Given the description of an element on the screen output the (x, y) to click on. 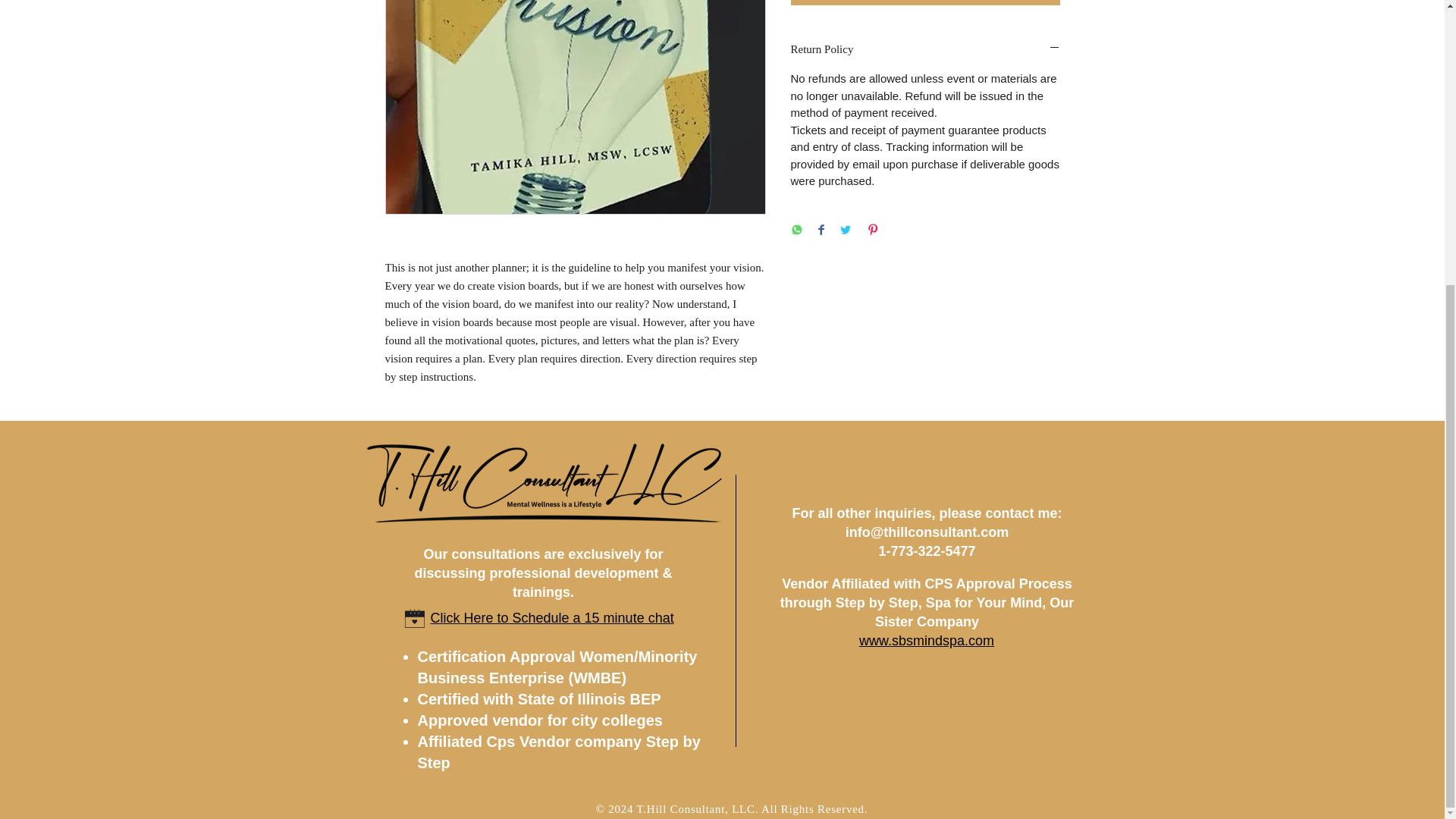
Click Here to Schedule a 15 minute chat (552, 617)
www.sbsmindspa.com (926, 640)
Add to Cart (924, 2)
Return Policy (924, 49)
